Given the description of an element on the screen output the (x, y) to click on. 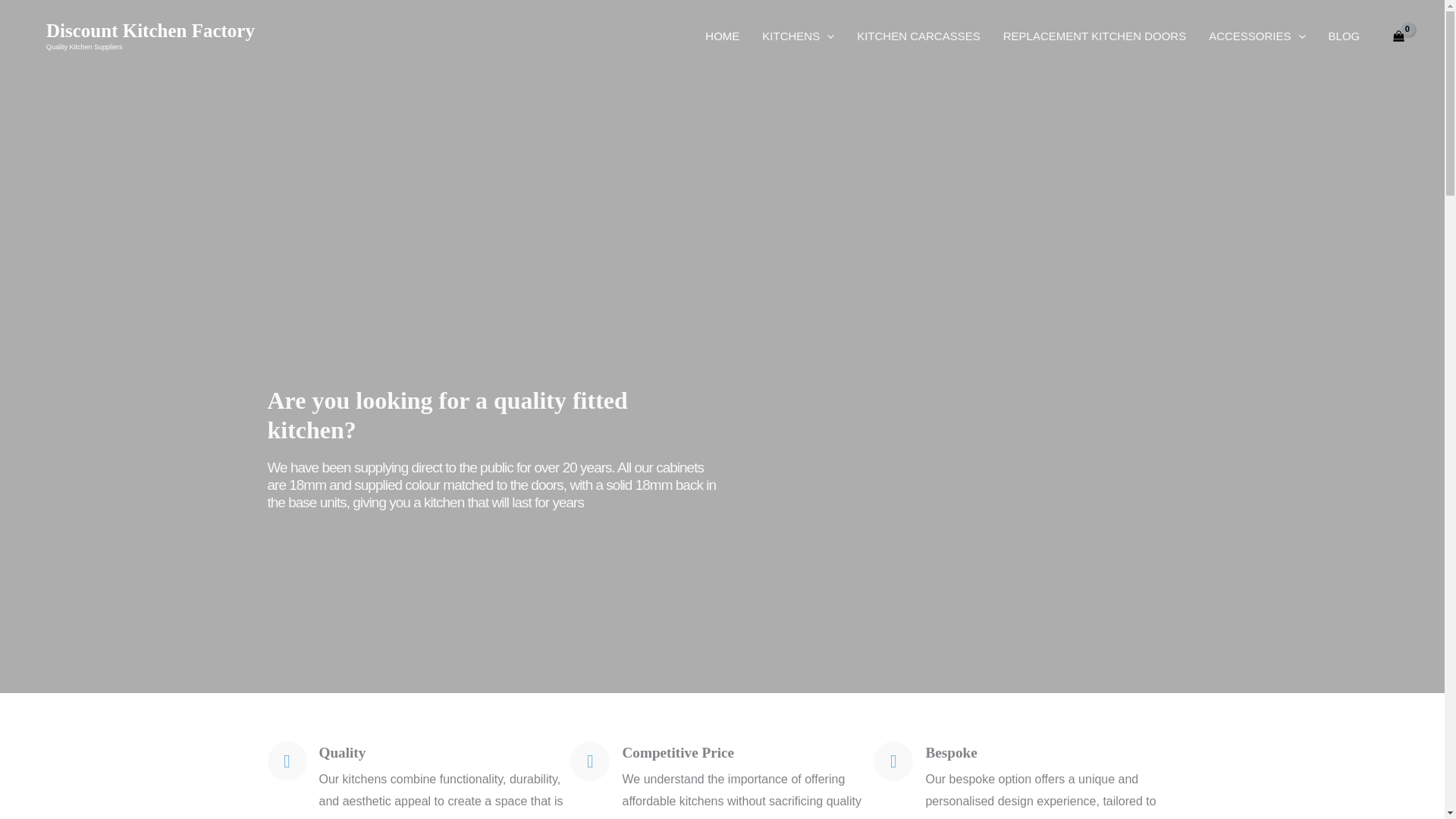
KITCHENS (798, 36)
REPLACEMENT KITCHEN DOORS (1093, 36)
BLOG (1344, 36)
KITCHEN CARCASSES (918, 36)
ACCESSORIES (1256, 36)
Discount Kitchen Factory (150, 30)
HOME (722, 36)
